Given the description of an element on the screen output the (x, y) to click on. 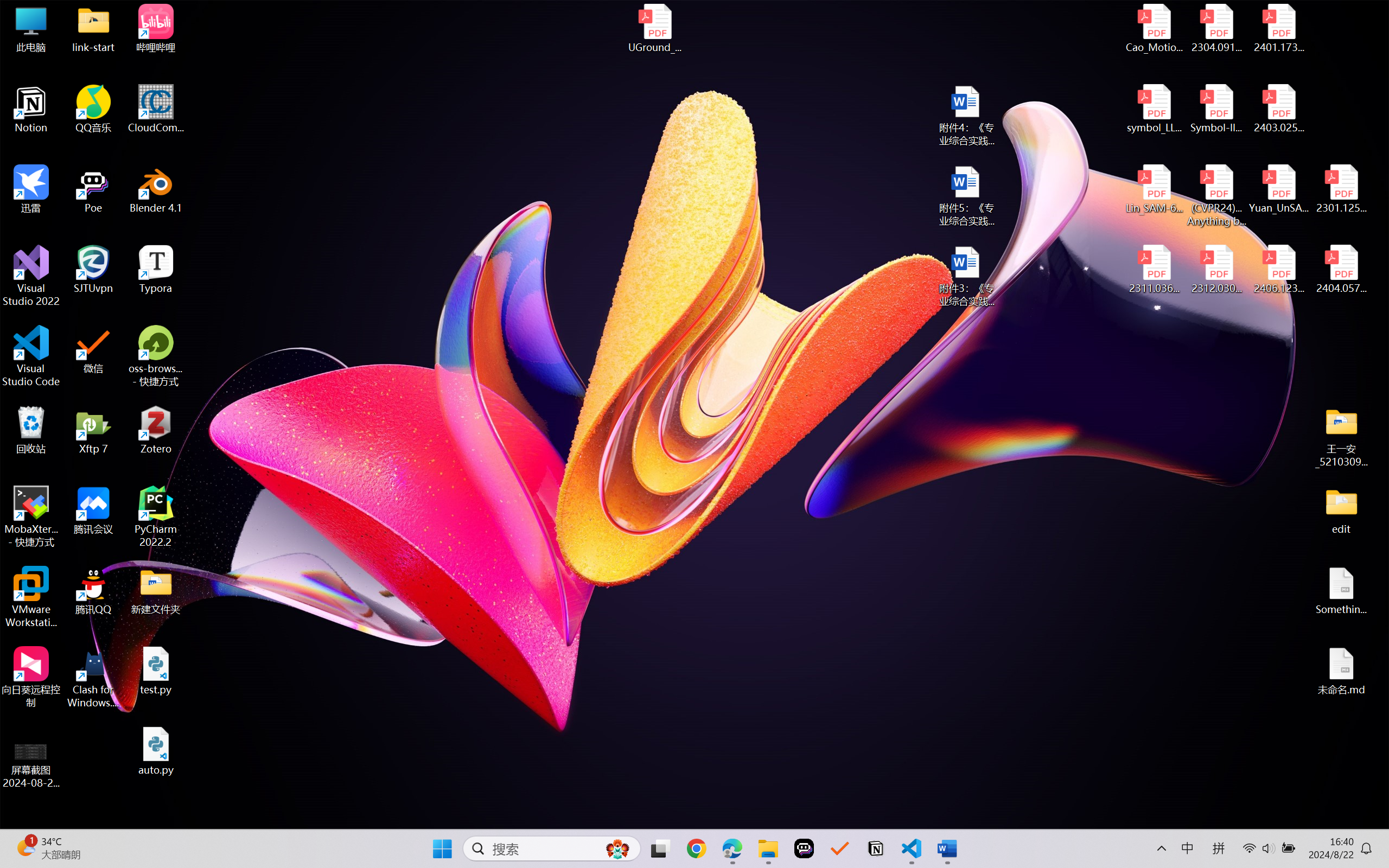
symbol_LLM.pdf (1154, 109)
Symbol-llm-v2.pdf (1216, 109)
UGround_paper.pdf (654, 28)
Notion (875, 848)
Something.md (1340, 591)
2301.12597v3.pdf (1340, 189)
auto.py (156, 751)
